Given the description of an element on the screen output the (x, y) to click on. 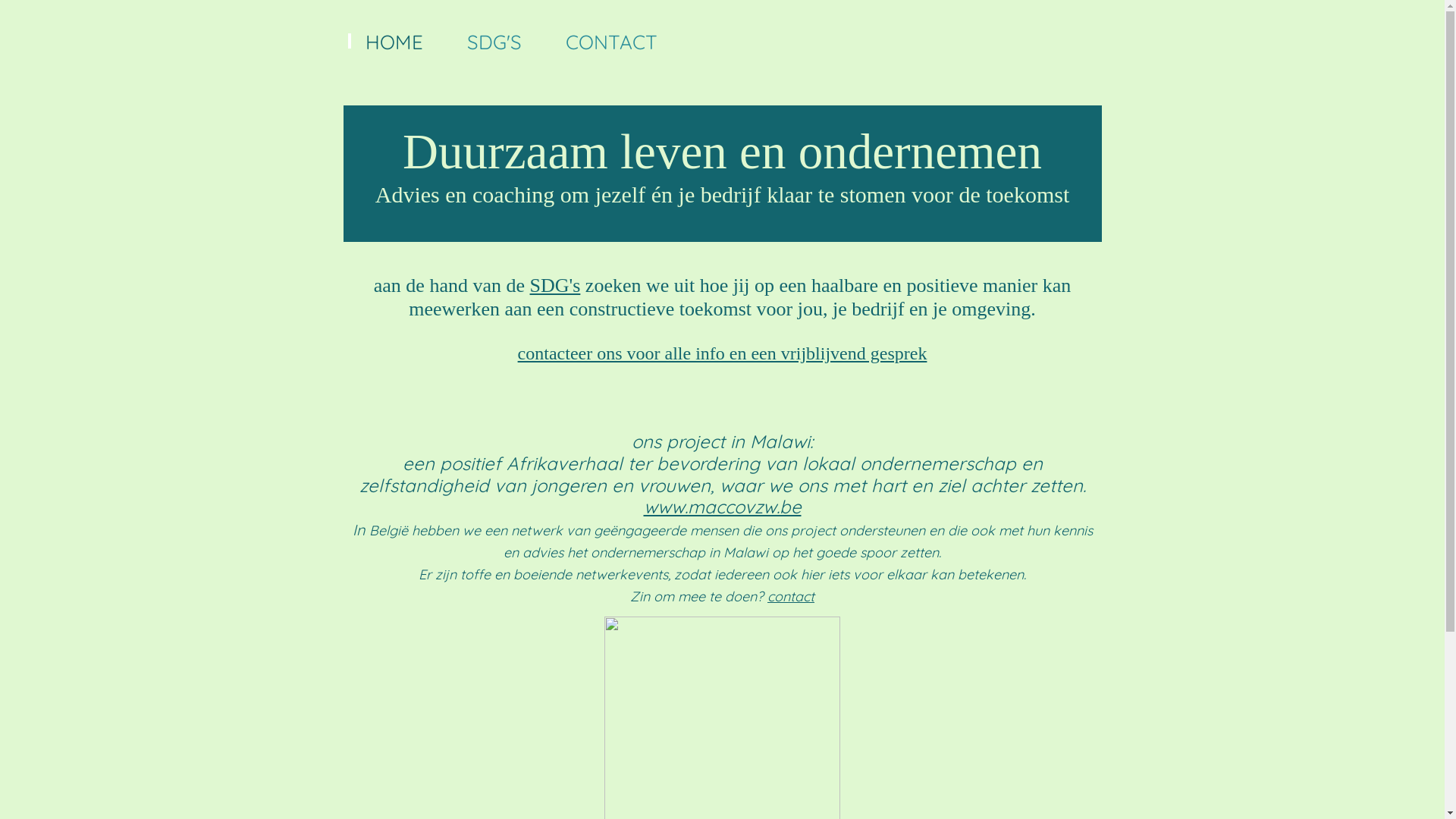
HOME Element type: text (393, 34)
CONTACT Element type: text (610, 34)
contact Element type: text (790, 596)
SDG'S Element type: text (493, 34)
SDG's Element type: text (555, 285)
contacteer ons voor alle info en een vrijblijvend gesprek Element type: text (722, 353)
www.maccovzw.be Element type: text (721, 506)
